Given the description of an element on the screen output the (x, y) to click on. 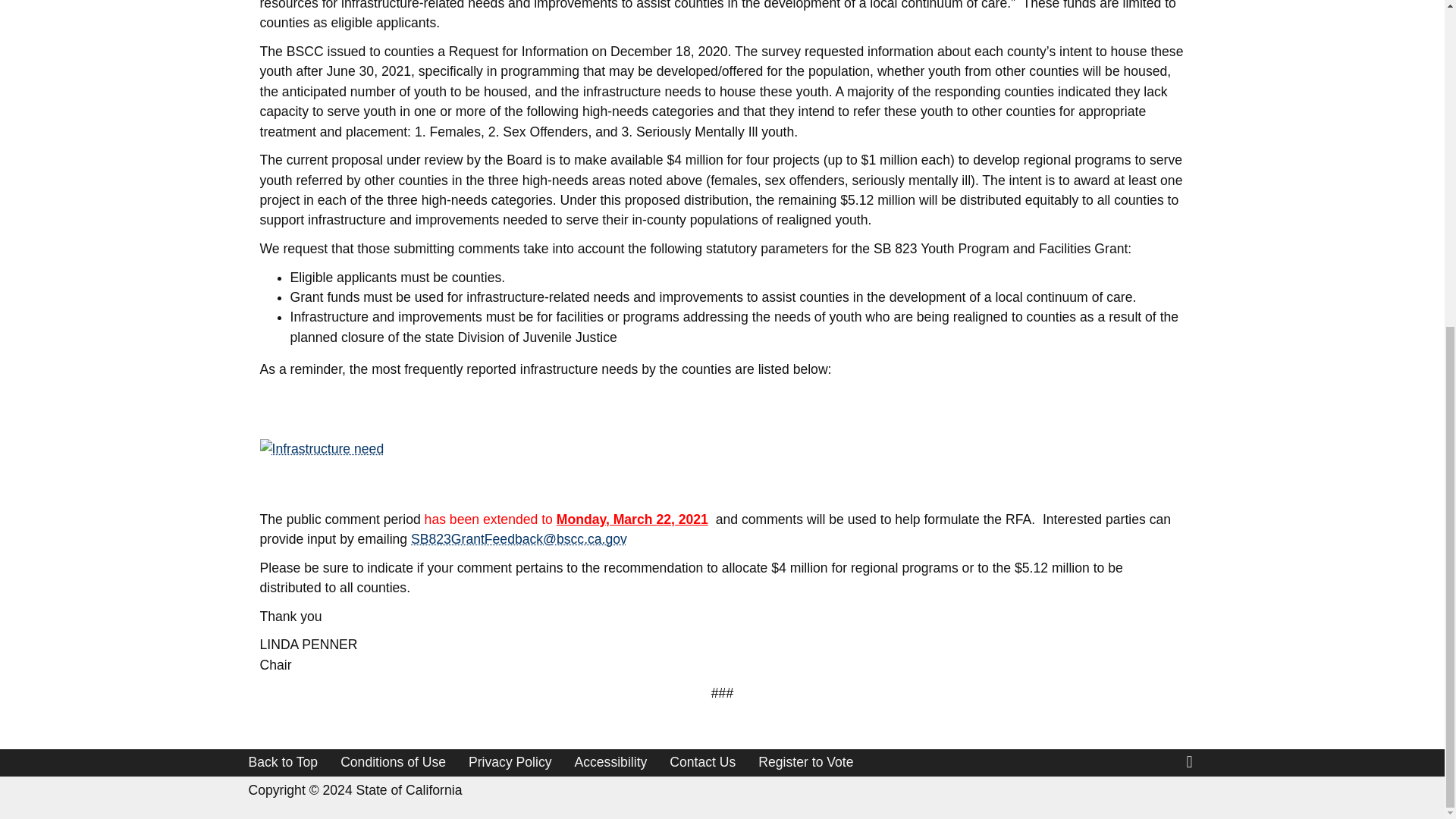
Privacy Policy (509, 761)
Conditions of Use (392, 761)
Register to Vote (805, 761)
Contact Us (702, 761)
SB823 Infrastructure needs (321, 447)
Back to Top (283, 761)
CESF RFP (321, 448)
Accessibility (611, 761)
